Given the description of an element on the screen output the (x, y) to click on. 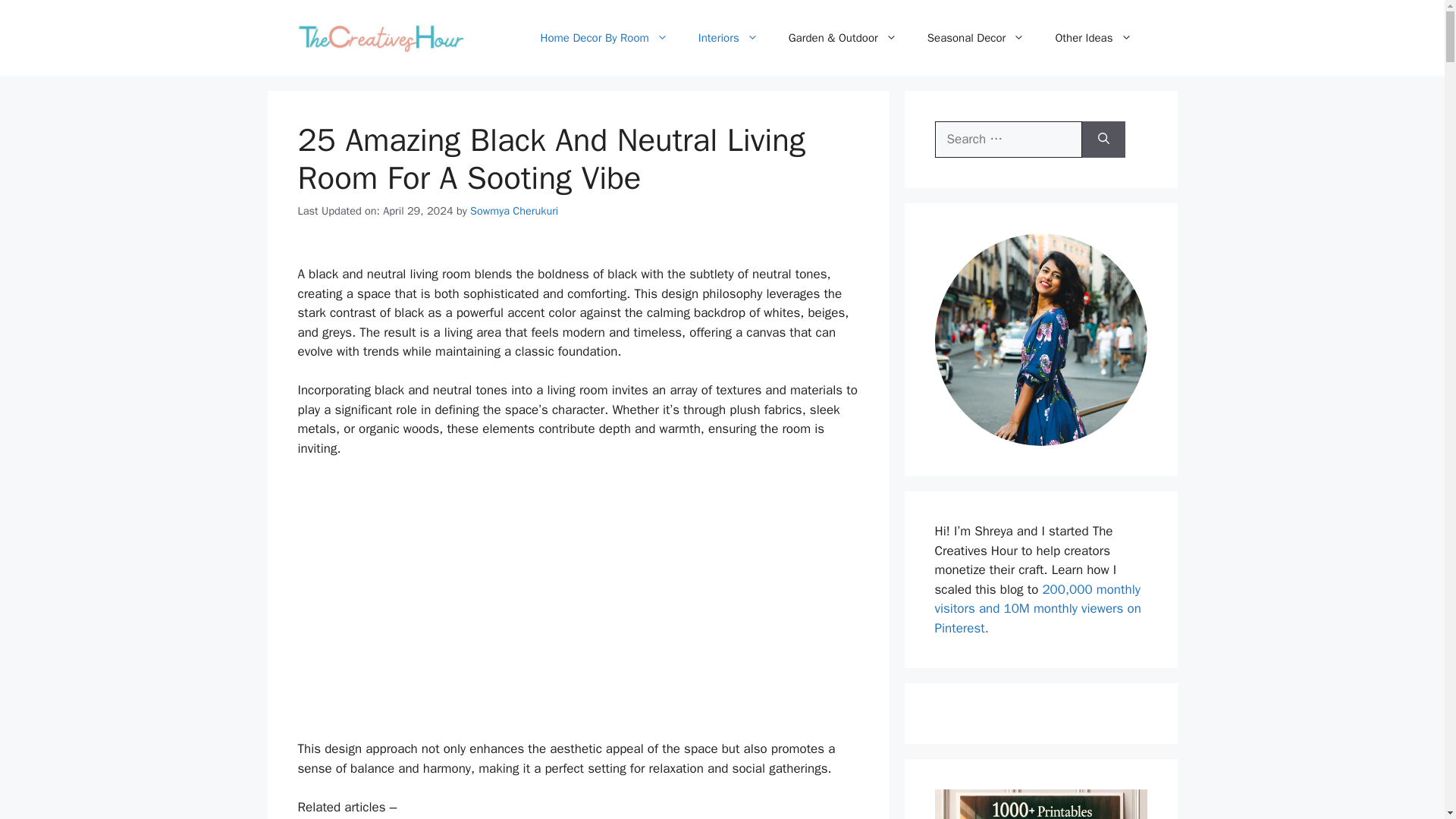
Search for: (1007, 139)
Other Ideas (1093, 37)
Home Decor By Room (603, 37)
Seasonal Decor (976, 37)
Interiors (727, 37)
View all posts by Sowmya Cherukuri (513, 210)
